Given the description of an element on the screen output the (x, y) to click on. 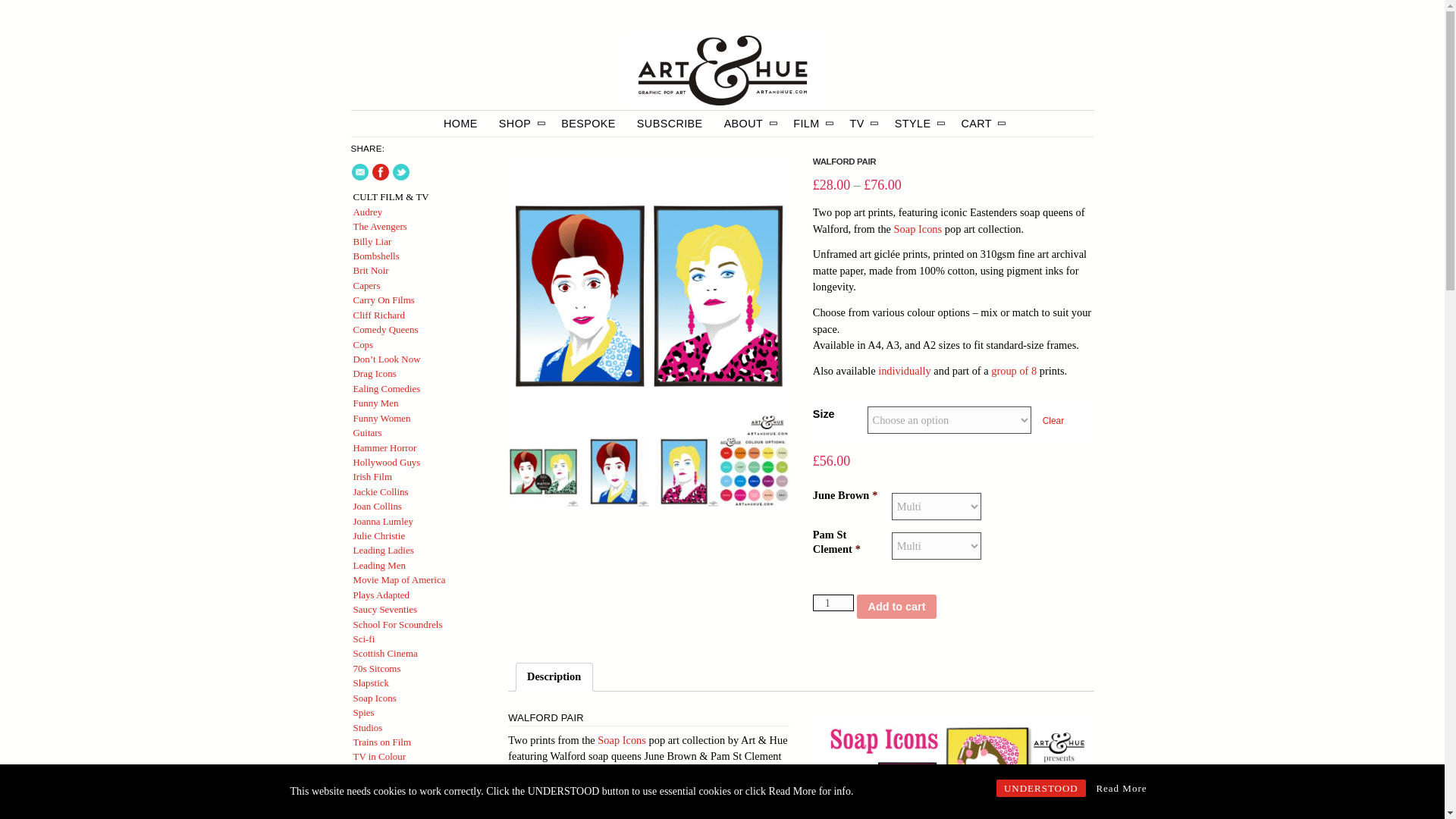
BESPOKE (587, 123)
Home (721, 70)
Read More (1120, 787)
HOME (460, 123)
Soap Icons Group (1013, 370)
1 (832, 602)
SUBSCRIBE (670, 123)
Qty (832, 602)
UNDERSTOOD (1040, 787)
Soap Icons (551, 797)
Soap Icons (621, 739)
